Given the description of an element on the screen output the (x, y) to click on. 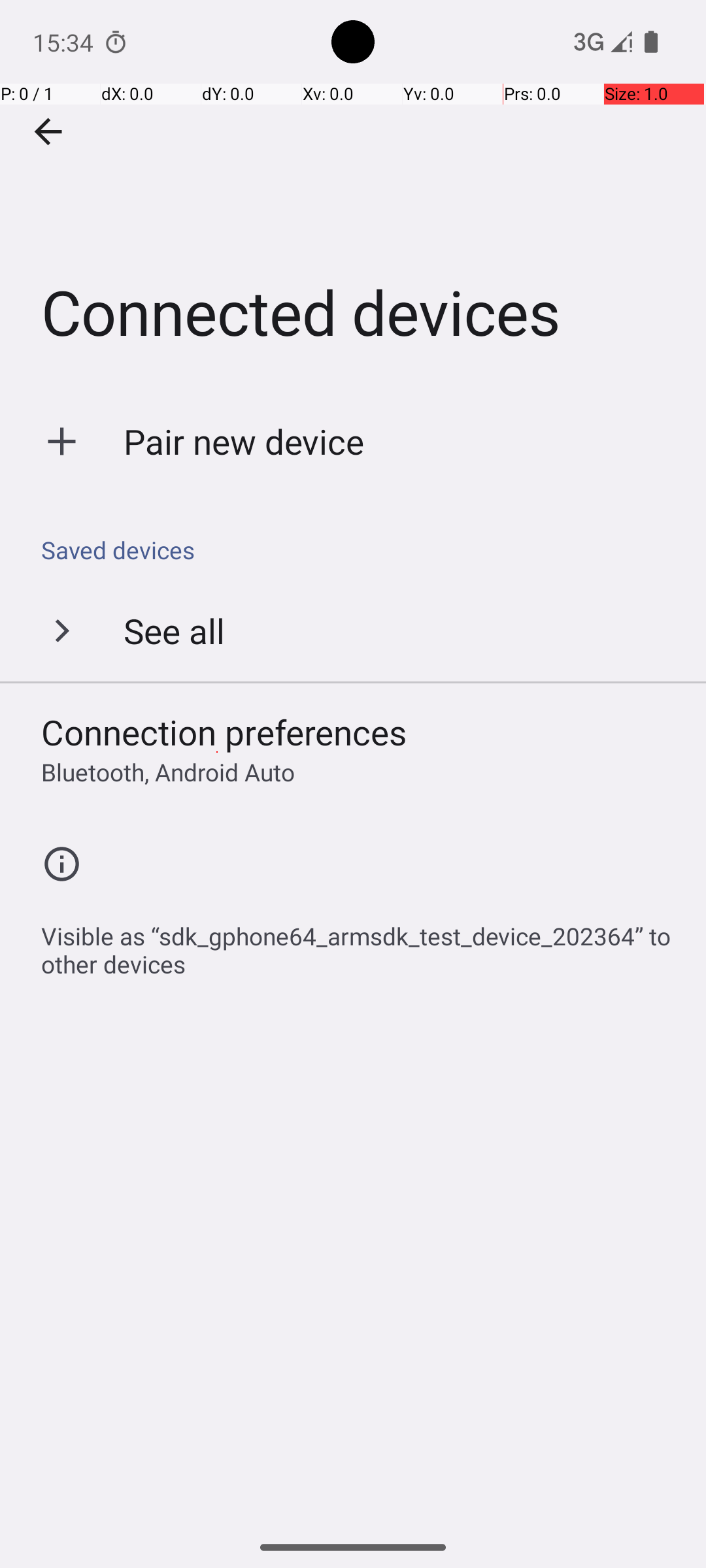
Visible as “sdk_gphone64_armsdk_test_device_202364” to other devices Element type: android.widget.TextView (359, 942)
